Given the description of an element on the screen output the (x, y) to click on. 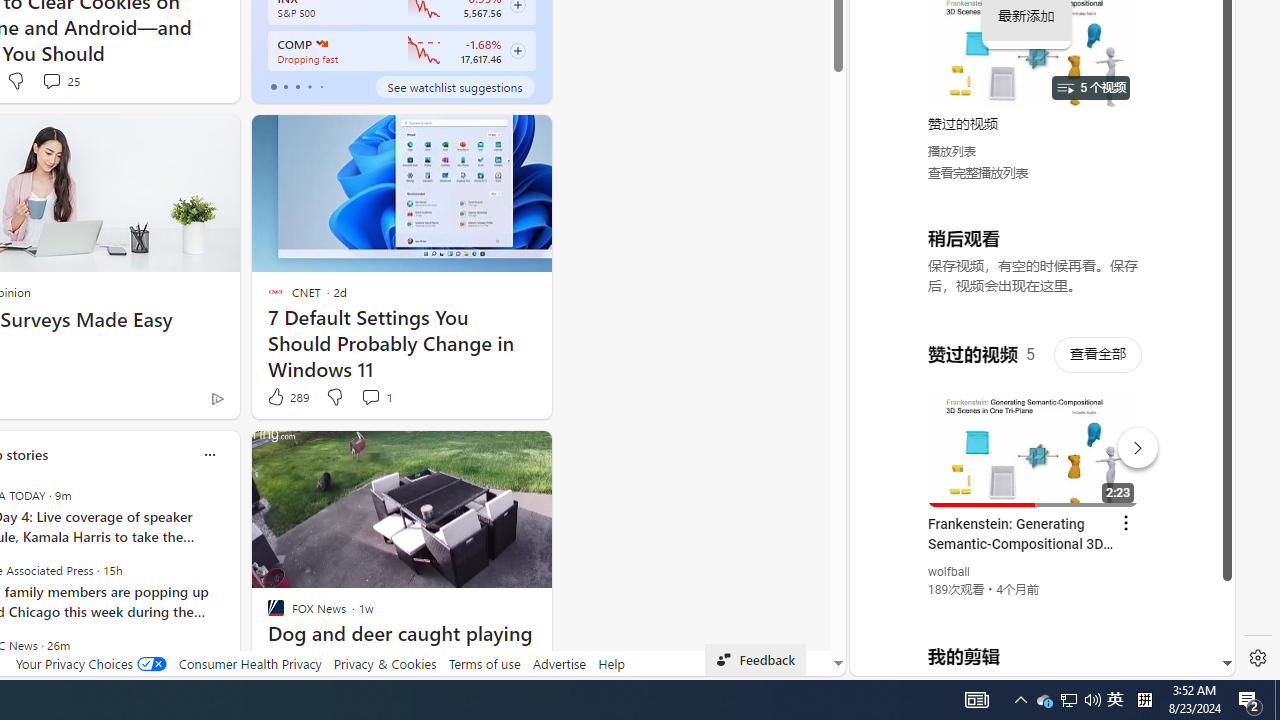
Class: icon-img (208, 454)
Actions for this site (1131, 443)
Hide this story (491, 454)
Your Privacy Choices (90, 663)
tab-1 (285, 86)
Click to scroll right (1196, 83)
289 Like (287, 397)
you (1034, 609)
Terms of use (484, 663)
Consumer Health Privacy (249, 663)
See watchlist suggestions (454, 86)
Class: follow-button  m (517, 51)
